Given the description of an element on the screen output the (x, y) to click on. 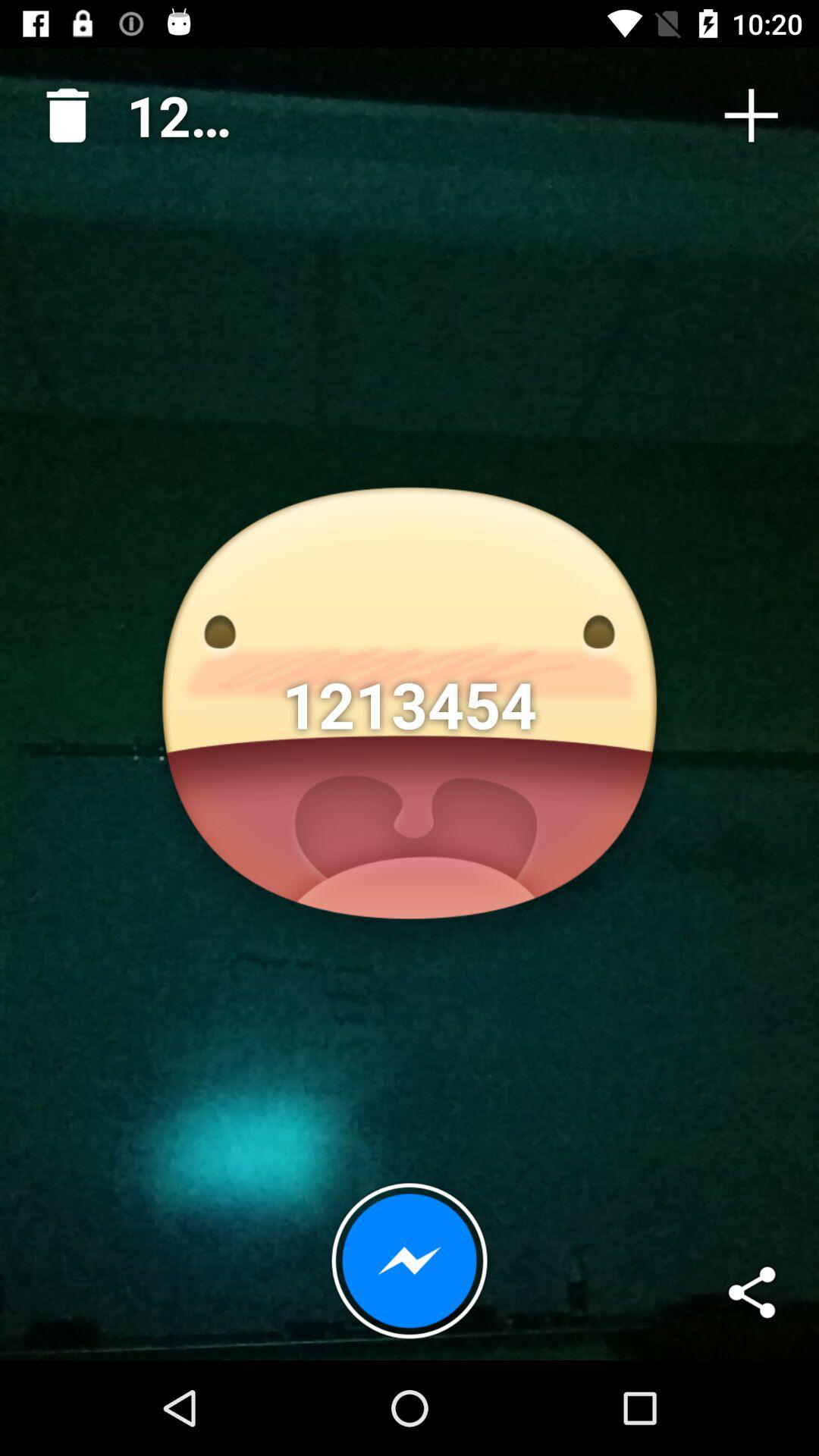
press the item next to the 1213454 item (751, 115)
